Given the description of an element on the screen output the (x, y) to click on. 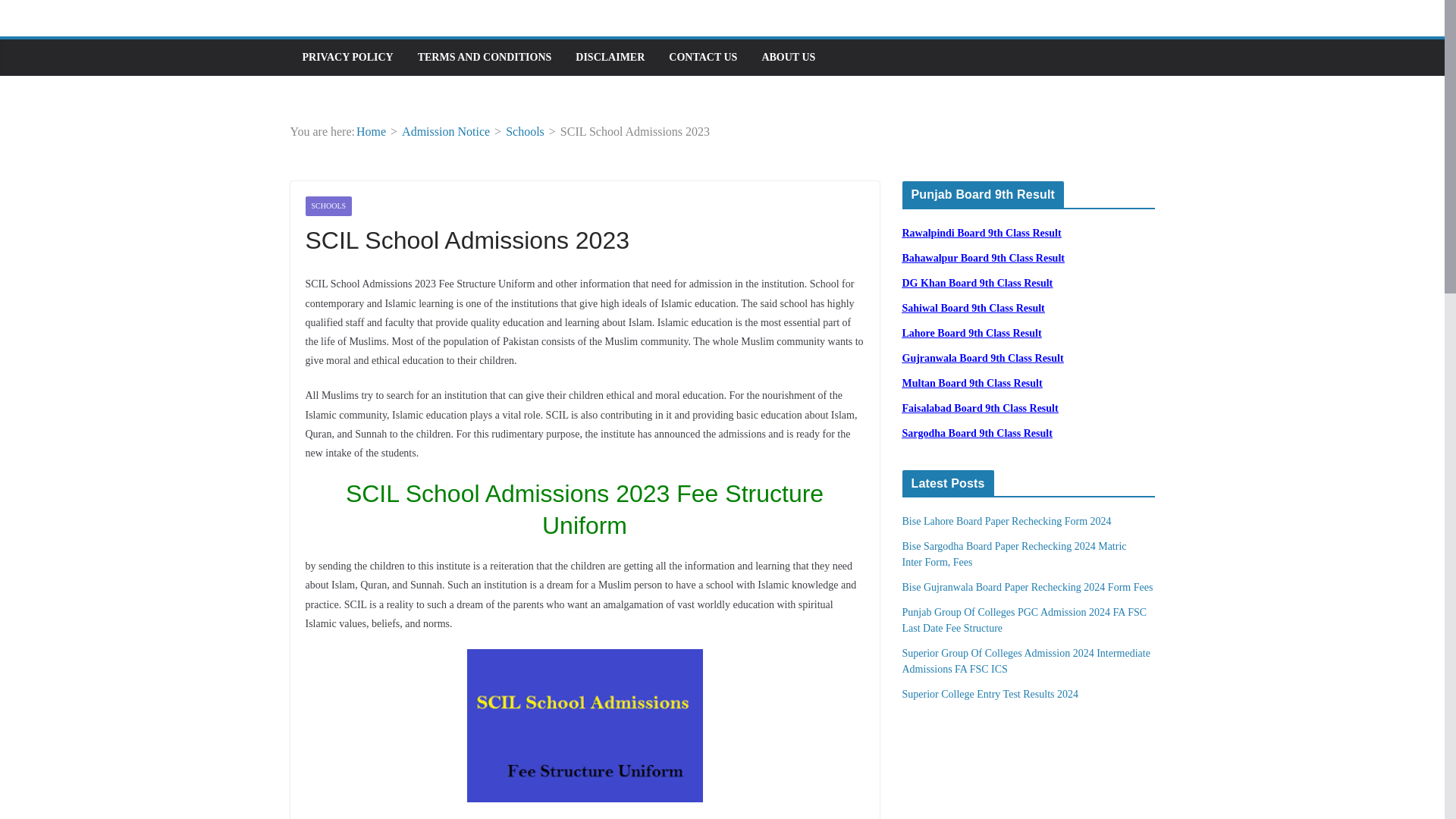
Gujranwala Board 9th Class Result (983, 357)
Admission Notice (445, 131)
Home (370, 131)
Bahawalpur Board 9th Class Result (983, 257)
ABOUT US (788, 56)
DG Khan Board 9th Class Result (977, 283)
Lahore Board 9th Class Result (972, 333)
Multan Board 9th Class Result (972, 383)
TERMS AND CONDITIONS (484, 56)
Rawalpindi Board 9th Class Result (981, 233)
Schools (524, 131)
SCHOOLS (328, 206)
CONTACT US (702, 56)
